Given the description of an element on the screen output the (x, y) to click on. 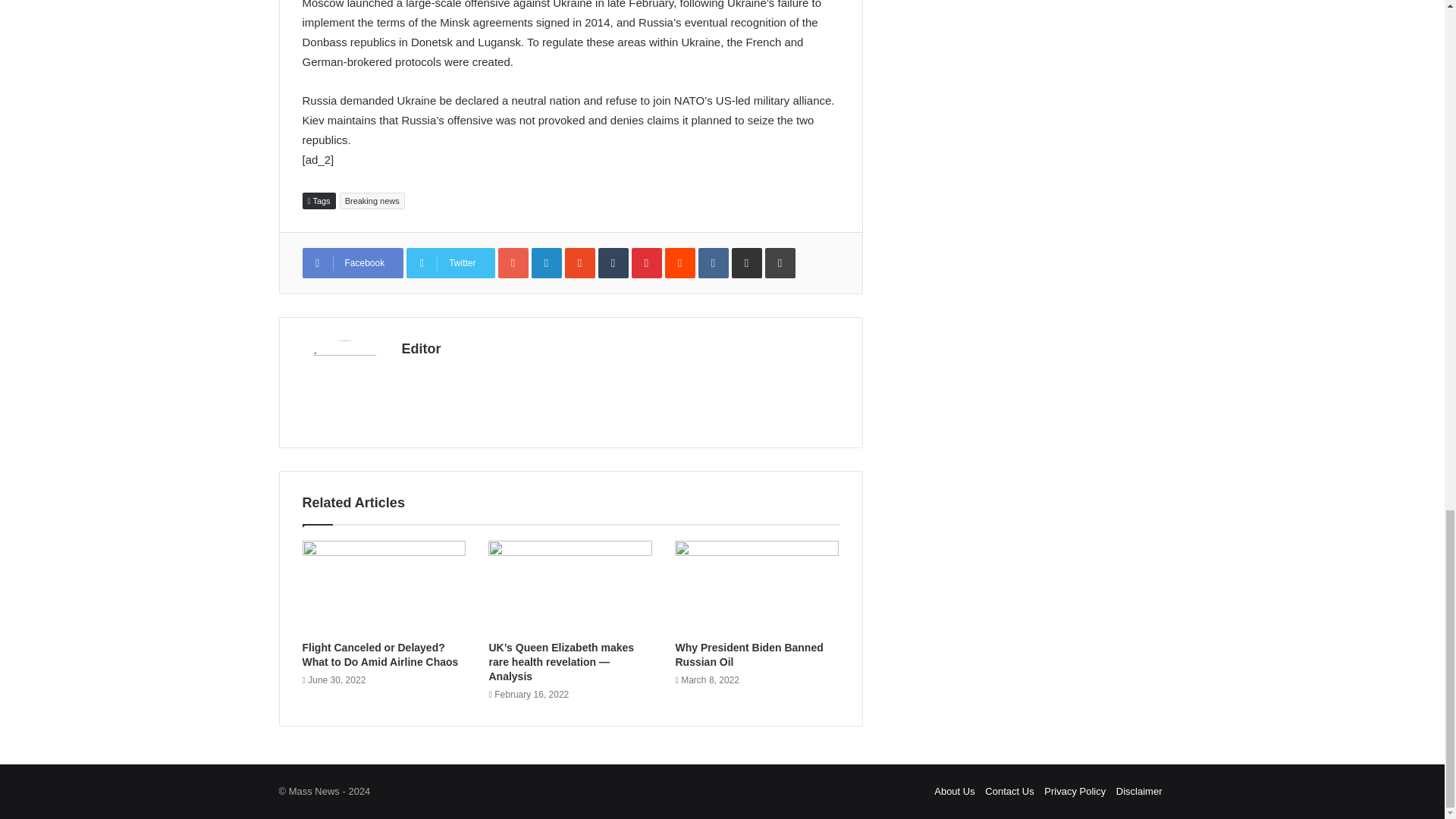
StumbleUpon (579, 263)
Pinterest (646, 263)
LinkedIn (546, 263)
Editor (421, 348)
Breaking news (371, 200)
Share via Email (746, 263)
Reddit (680, 263)
Tumblr (613, 263)
Twitter (450, 263)
Facebook (352, 263)
